Given the description of an element on the screen output the (x, y) to click on. 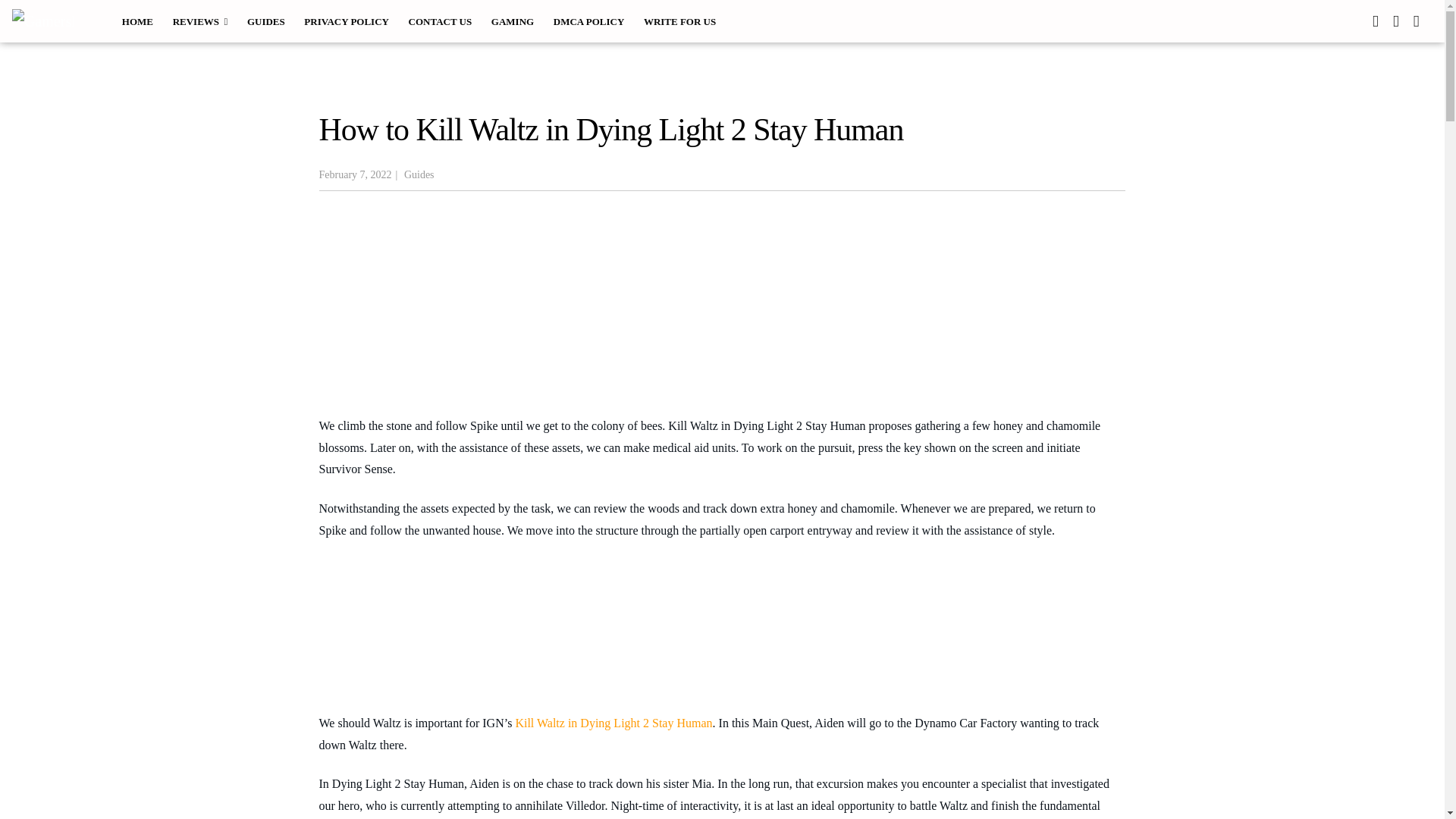
PRIVACY POLICY (346, 20)
HOME (137, 20)
DMCA POLICY (588, 20)
CONTACT US (439, 20)
Search (34, 17)
WRITE FOR US (679, 20)
REVIEWS (200, 20)
GUIDES (265, 20)
GAMING (512, 20)
